Given the description of an element on the screen output the (x, y) to click on. 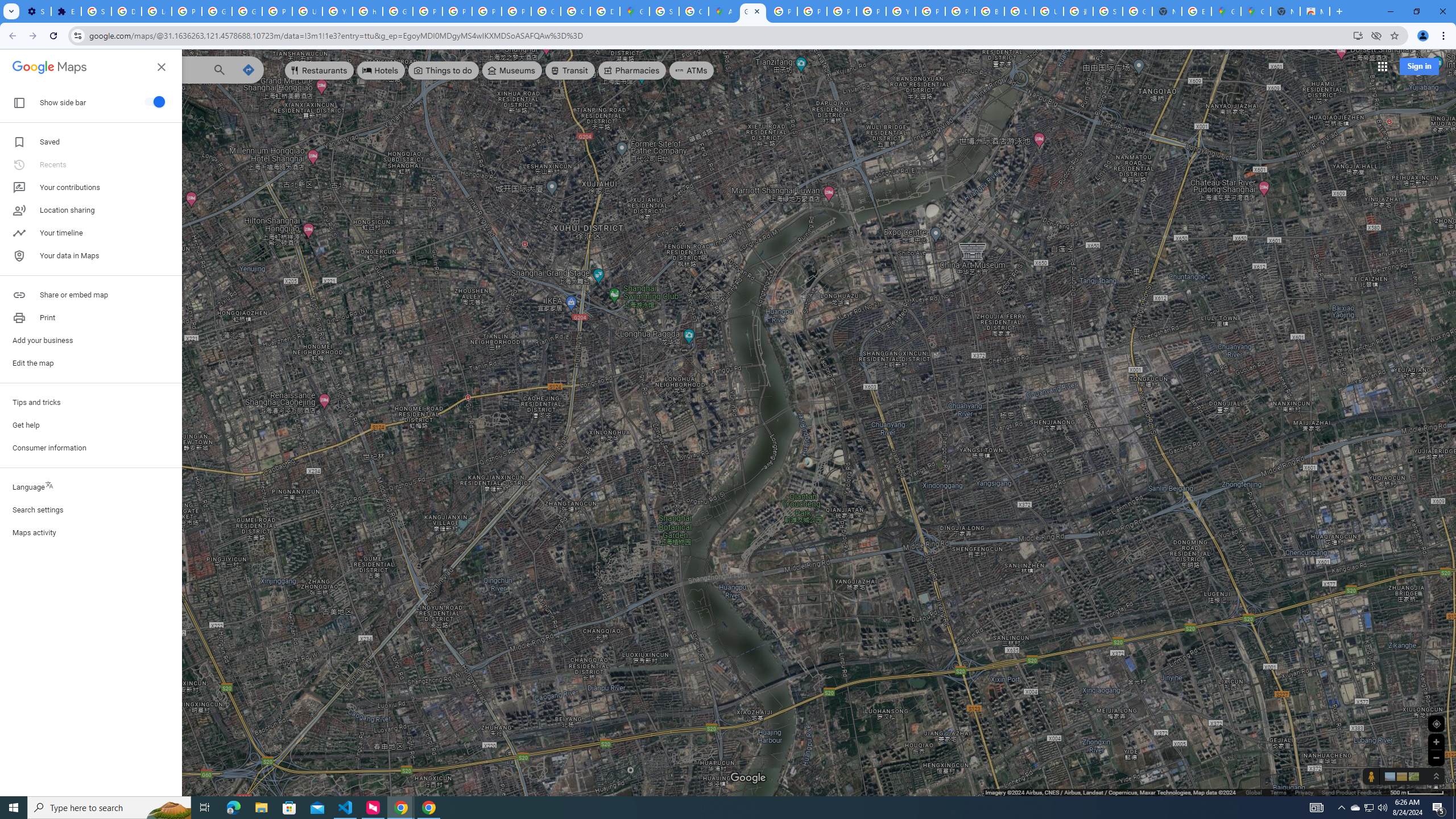
Share or embed map (90, 295)
Saved (90, 142)
Restaurants (319, 70)
Search settings (90, 509)
Sign in - Google Accounts (664, 11)
Google Maps (753, 11)
Global (1253, 792)
Tips and tricks (90, 402)
Privacy Help Center - Policies Help (841, 11)
